Given the description of an element on the screen output the (x, y) to click on. 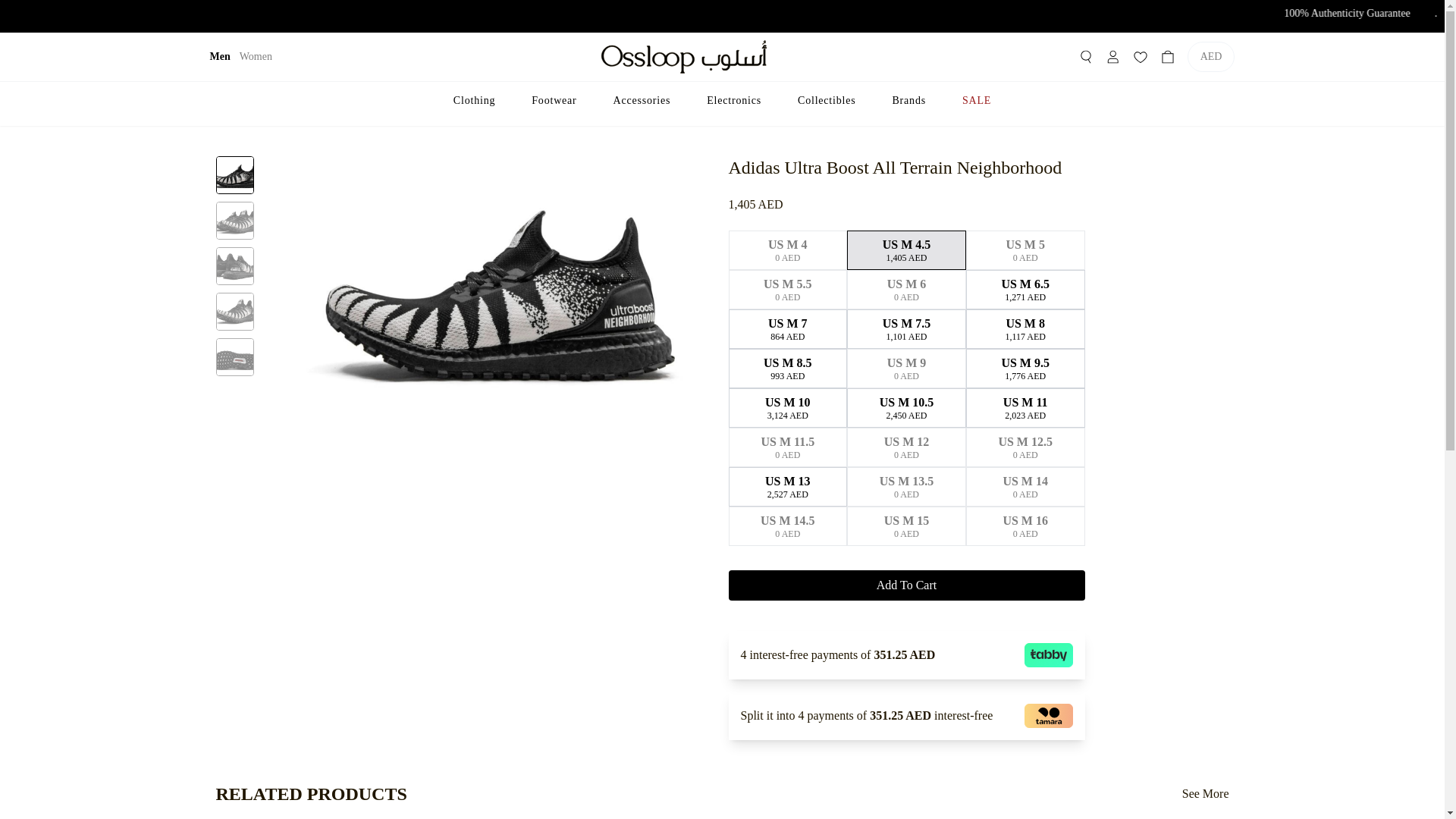
Account (1113, 56)
SALE (976, 100)
Women (256, 56)
Collectibles (826, 100)
Footwear (553, 100)
Men (219, 56)
Favourites (1140, 56)
Accessories (641, 100)
Shopping cart (1167, 56)
Clothing (473, 100)
